Given the description of an element on the screen output the (x, y) to click on. 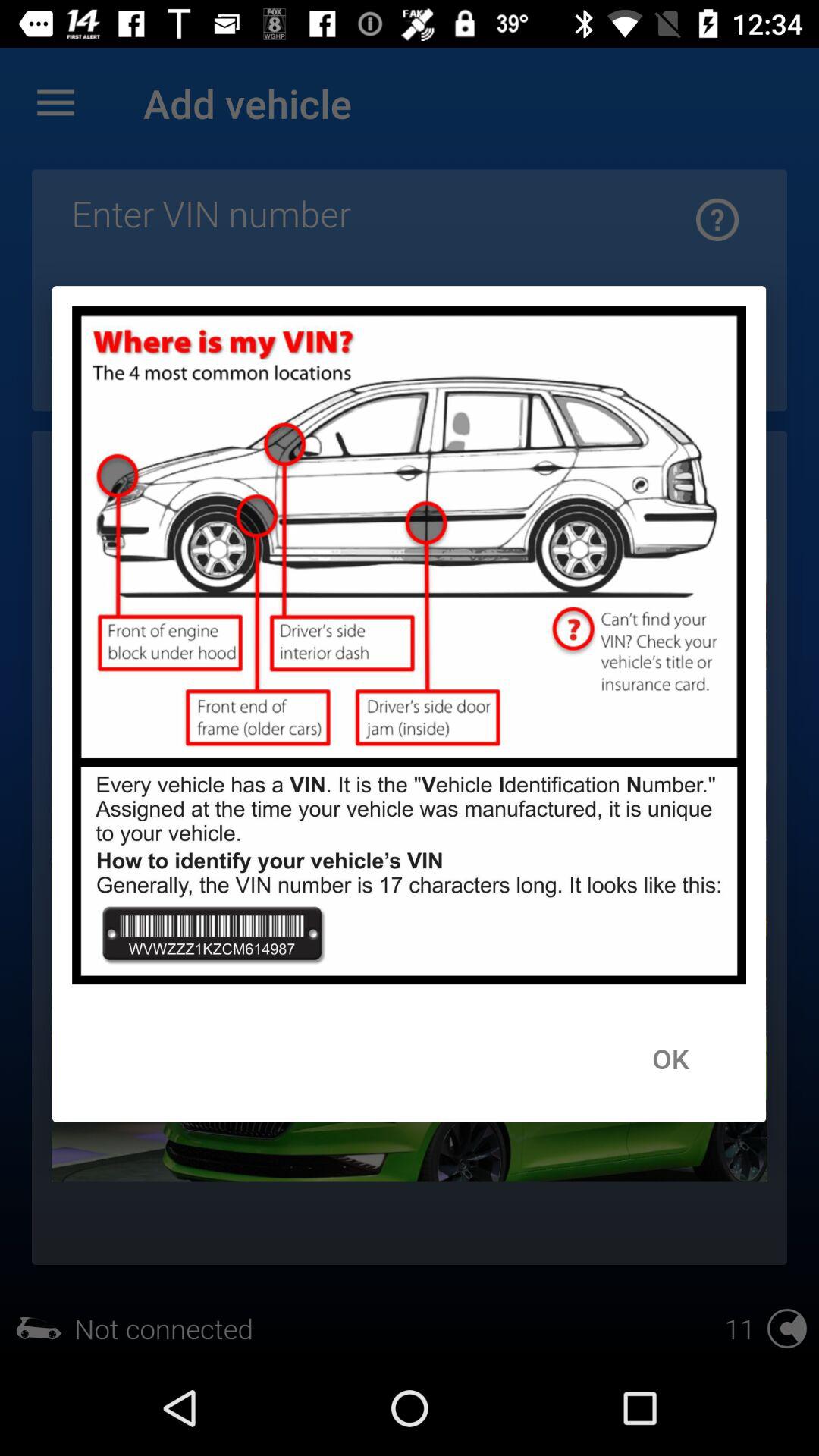
jump until ok icon (670, 1058)
